Given the description of an element on the screen output the (x, y) to click on. 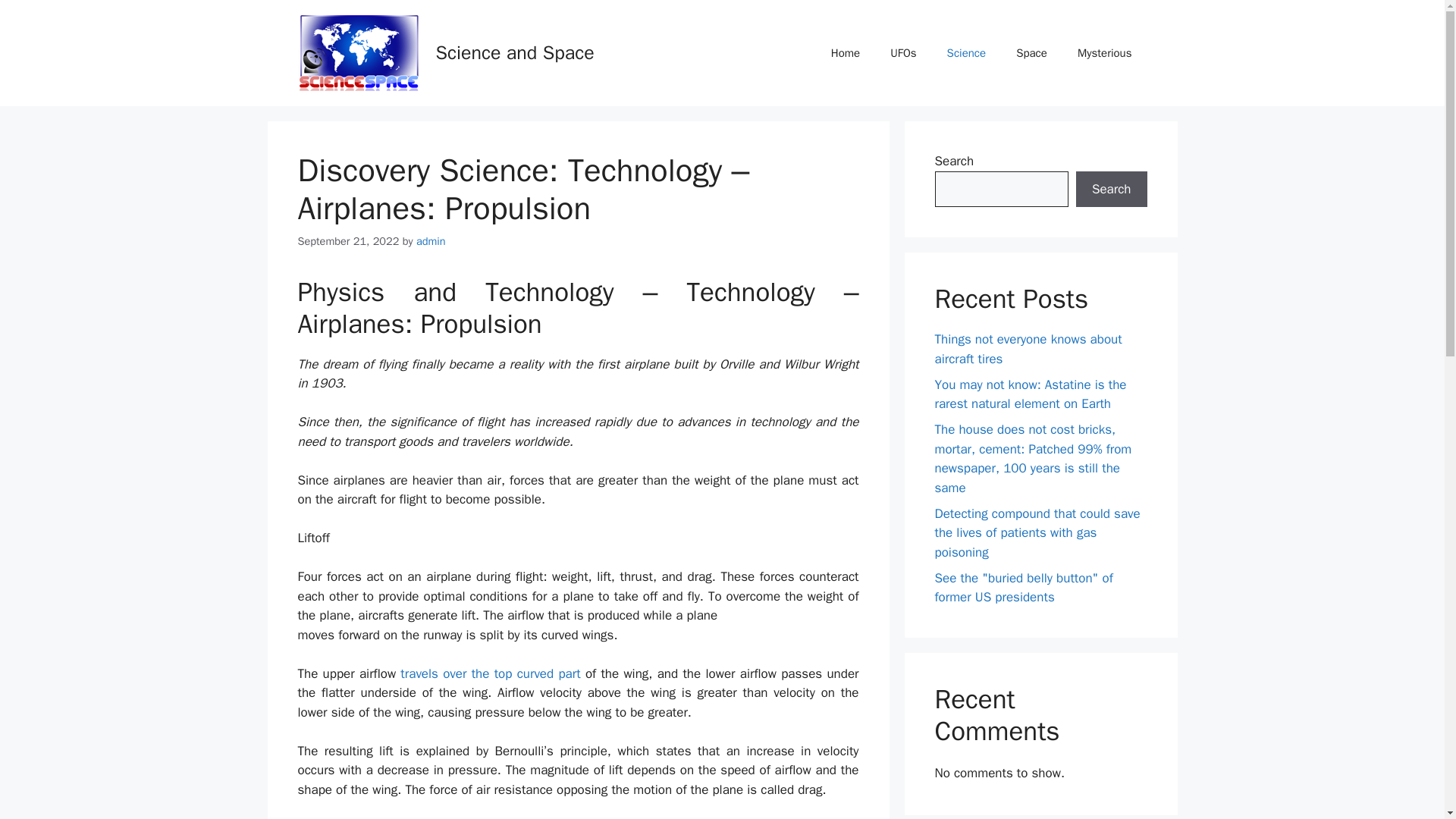
travels over the top curved part (489, 673)
Space (1031, 53)
Things not everyone knows about aircraft tires (1027, 348)
Search (1111, 189)
Science and Space (514, 52)
admin (430, 241)
Science (966, 53)
Mysterious (1104, 53)
See the "buried belly button" of former US presidents (1023, 588)
UFOs (903, 53)
View all posts by admin (430, 241)
Home (845, 53)
